Given the description of an element on the screen output the (x, y) to click on. 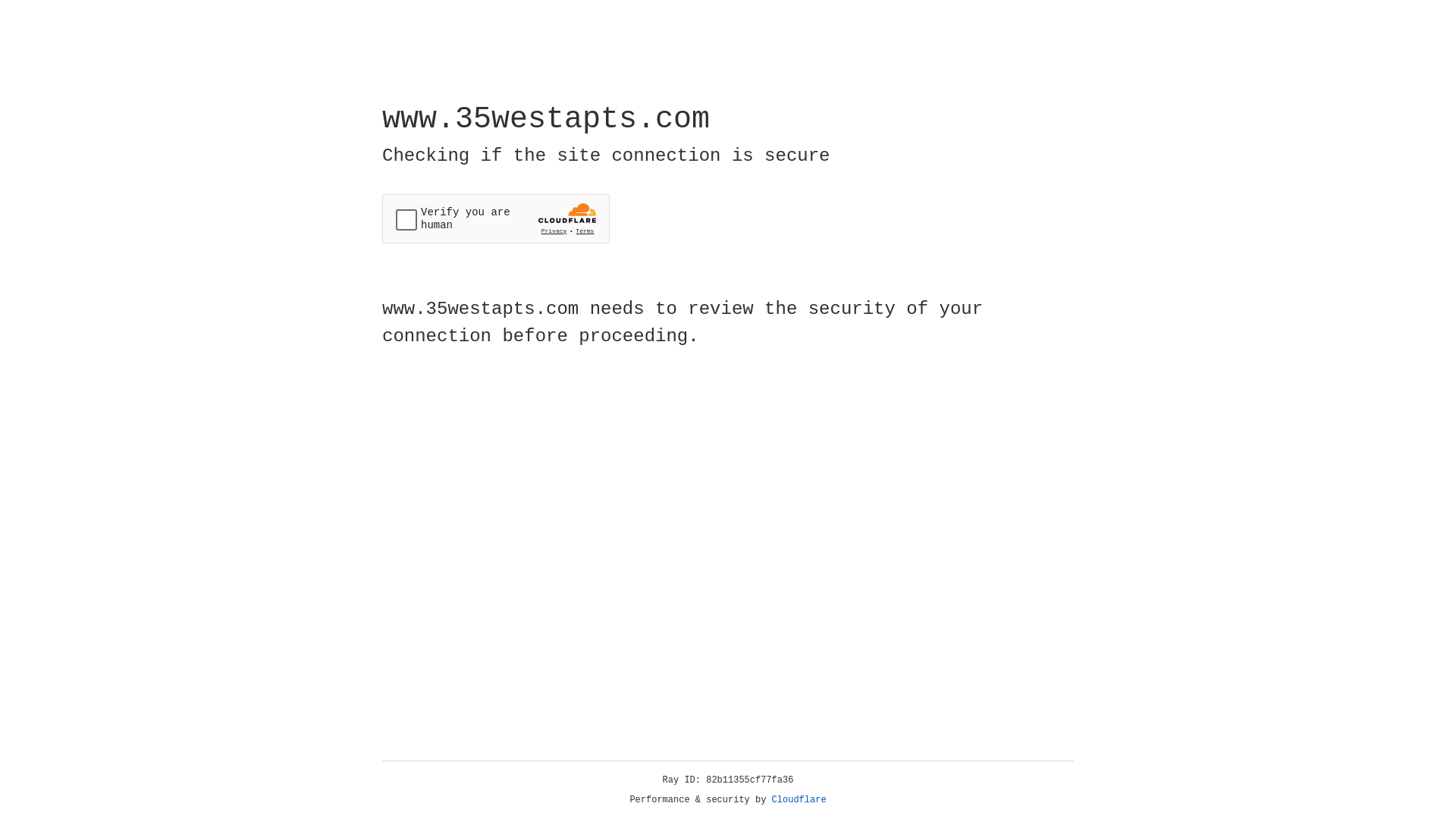
Widget containing a Cloudflare security challenge Element type: hover (495, 218)
Cloudflare Element type: text (798, 799)
